Given the description of an element on the screen output the (x, y) to click on. 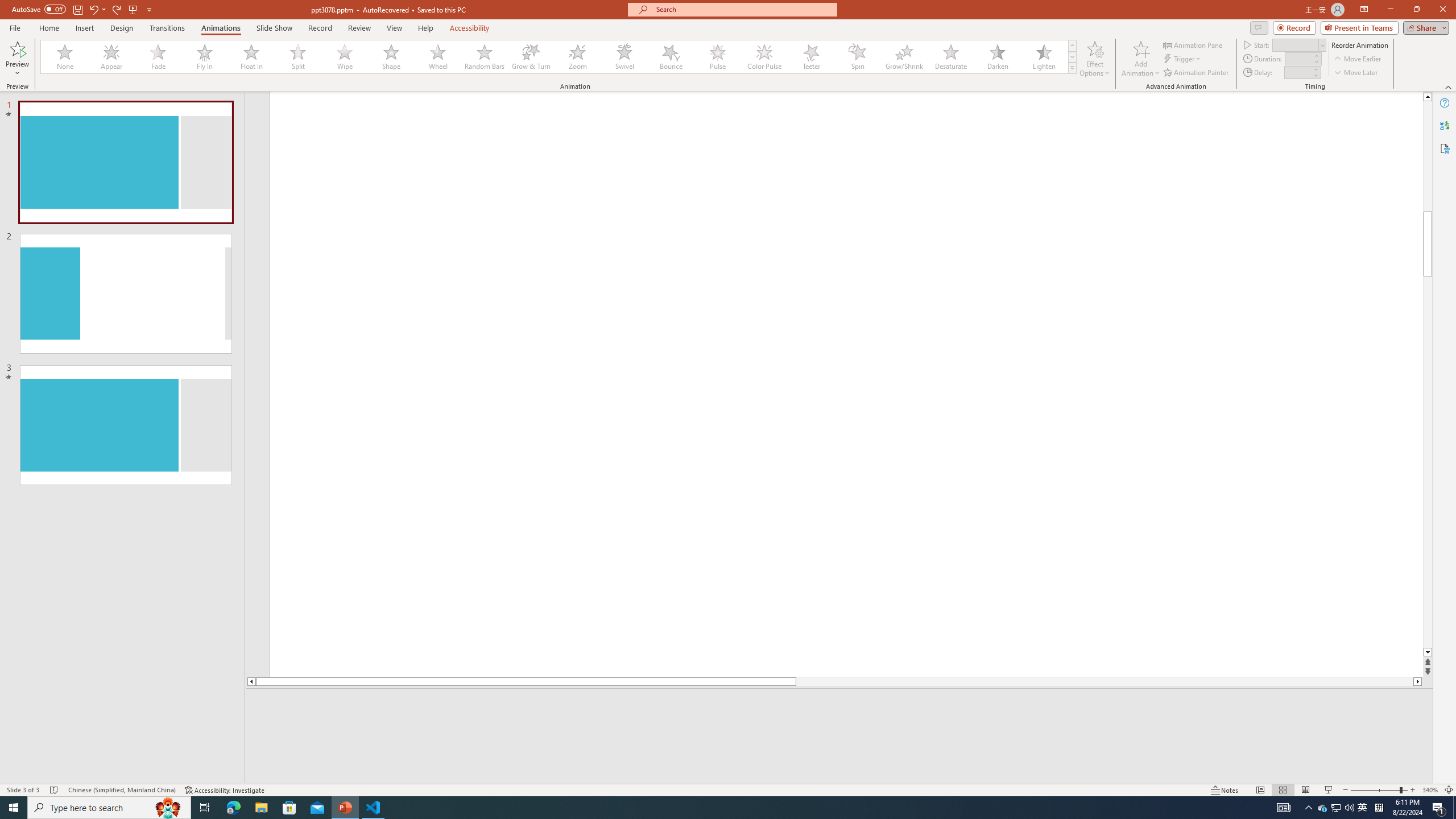
Teeter (810, 56)
Trigger (1182, 58)
Shape (391, 56)
Grow/Shrink (903, 56)
Move Earlier (1357, 58)
Wheel (437, 56)
Spin (857, 56)
Fade (158, 56)
An abstract genetic concept (845, 395)
